Given the description of an element on the screen output the (x, y) to click on. 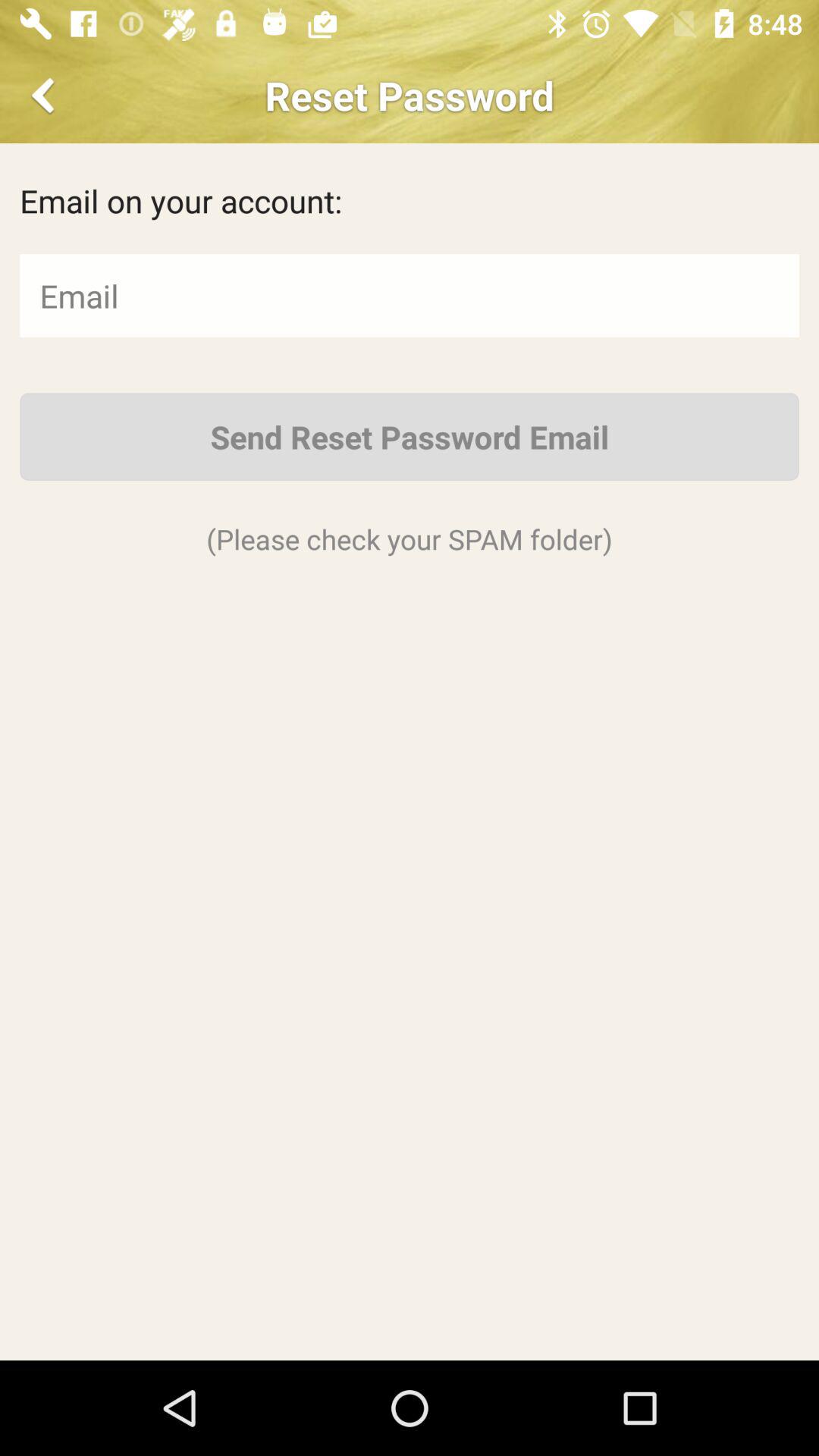
enter email (409, 295)
